Given the description of an element on the screen output the (x, y) to click on. 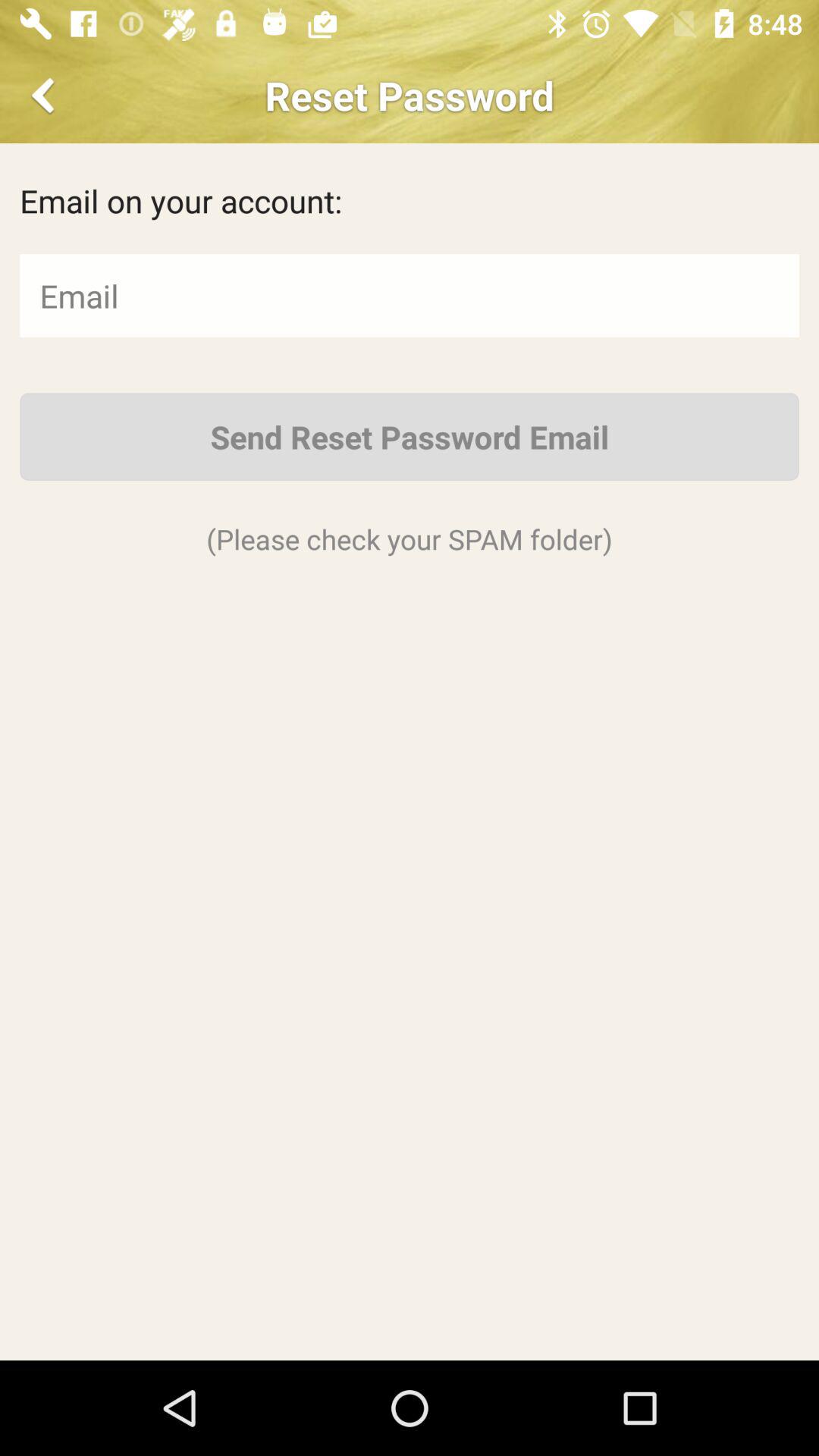
enter email (409, 295)
